Given the description of an element on the screen output the (x, y) to click on. 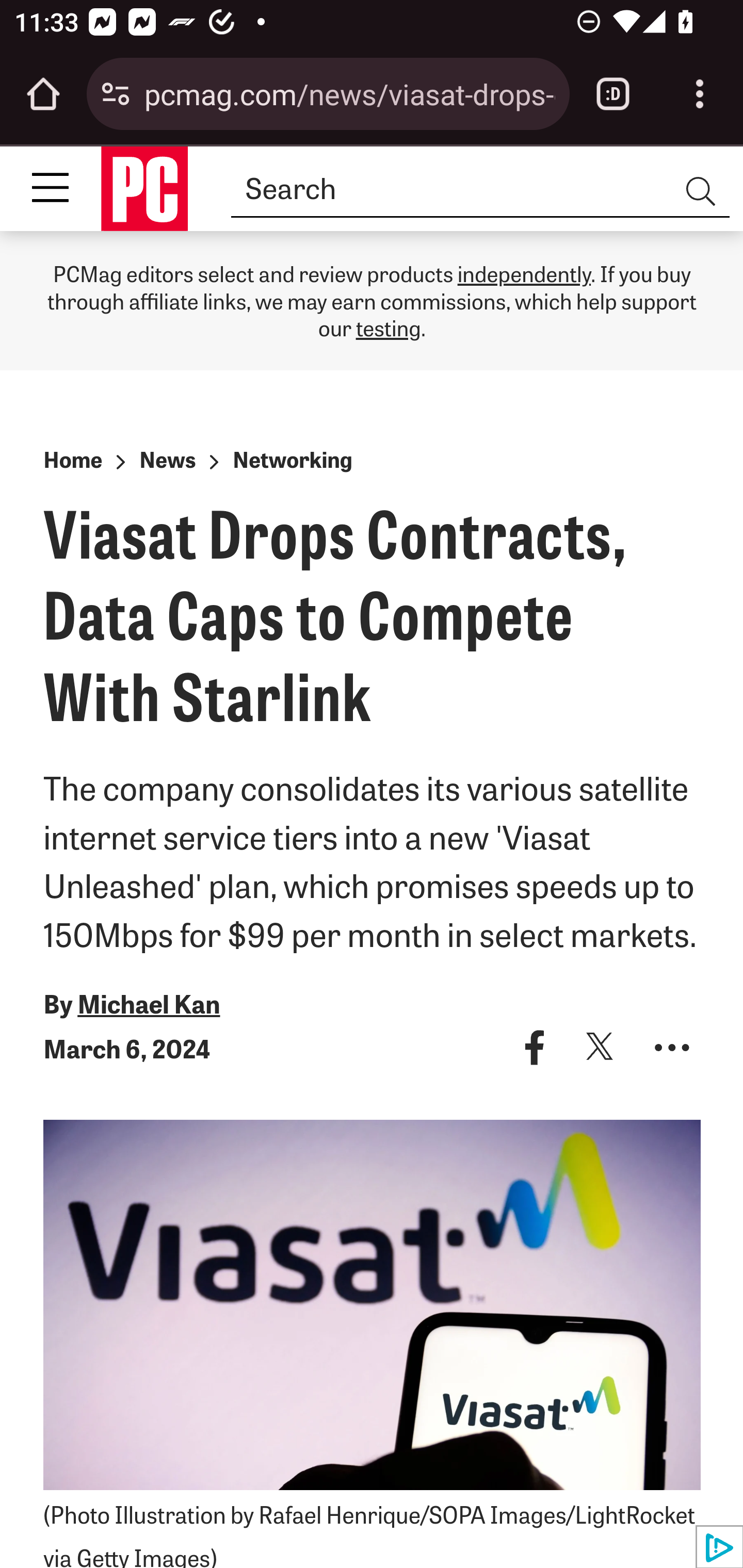
Open the home page (43, 93)
Connection is secure (115, 93)
Switch or close tabs (612, 93)
Customize and control Google Chrome (699, 93)
PCMag Nav Logo (143, 188)
PCMag Mission Statement independently (524, 271)
How We Test Everything We Review testing (387, 327)
Home (72, 458)
News (166, 458)
Networking (292, 458)
Facebook Share (534, 1047)
X Share (600, 1047)
javascript:void(0) (672, 1047)
